Given the description of an element on the screen output the (x, y) to click on. 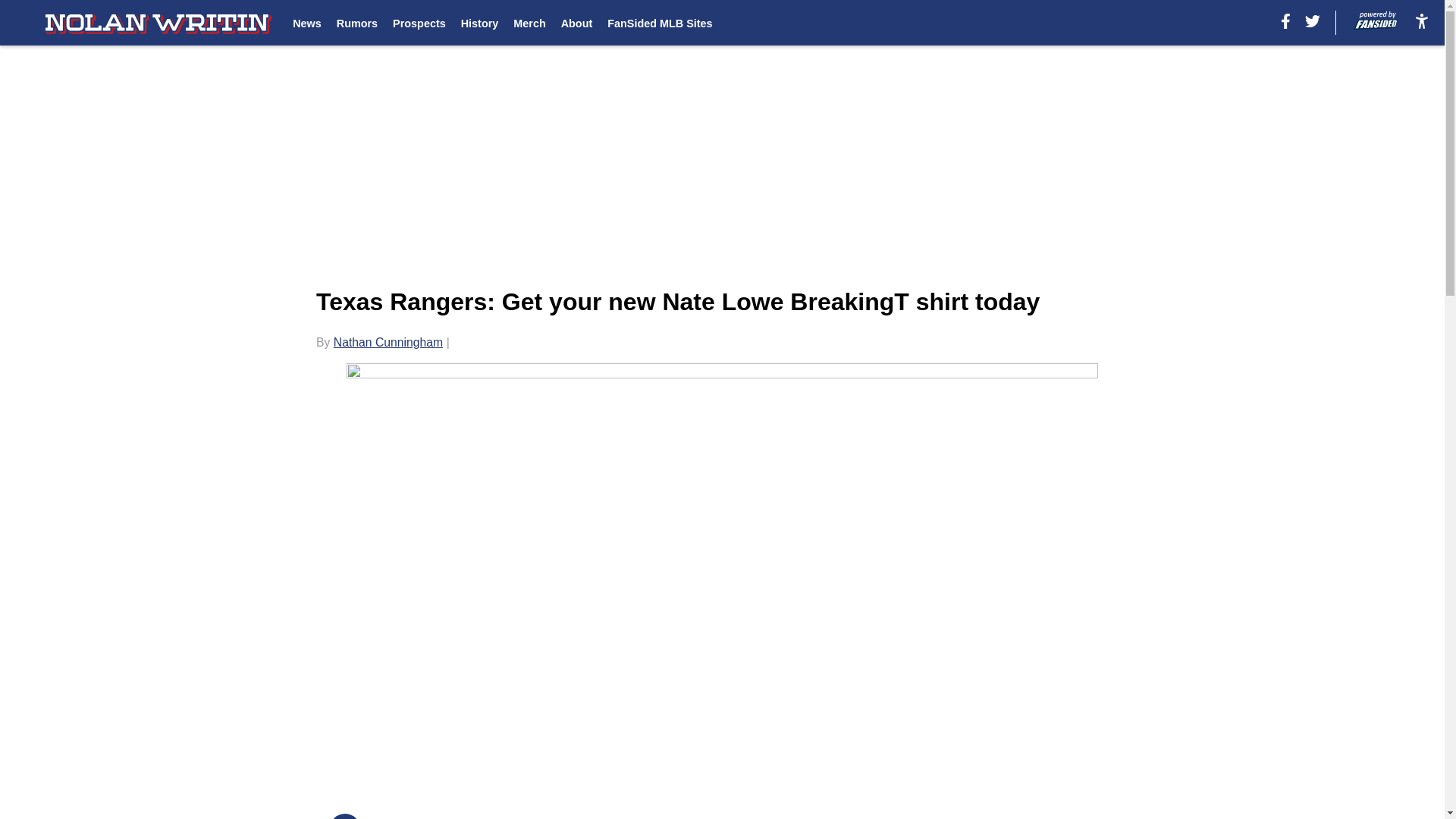
History (480, 23)
FanSided MLB Sites (659, 23)
Prospects (419, 23)
About (576, 23)
Rumors (356, 23)
Nathan Cunningham (387, 341)
News (306, 23)
Merch (528, 23)
